Given the description of an element on the screen output the (x, y) to click on. 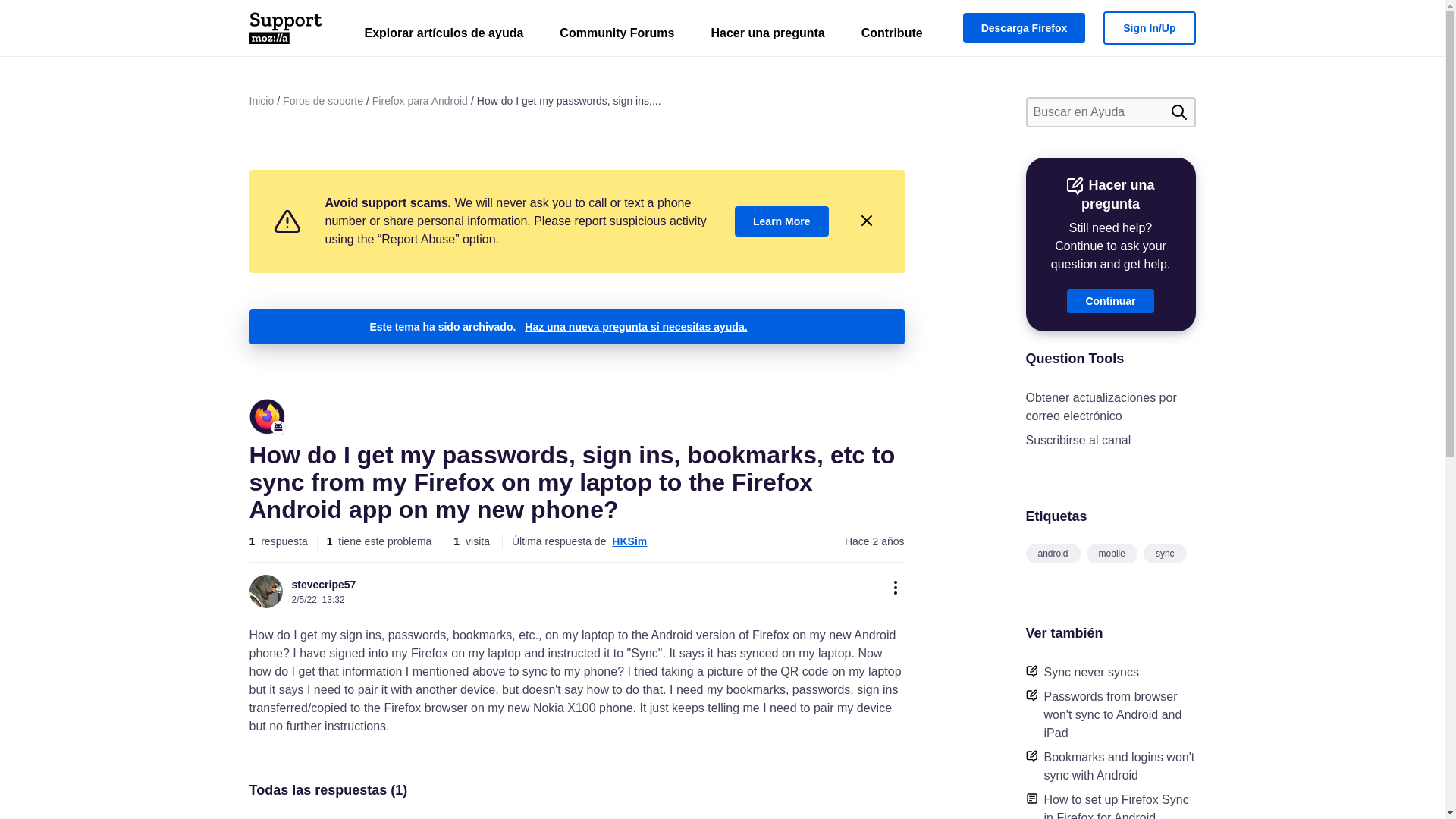
Buscar (1178, 111)
Hacer una pregunta (768, 37)
Community Forums (617, 37)
